Given the description of an element on the screen output the (x, y) to click on. 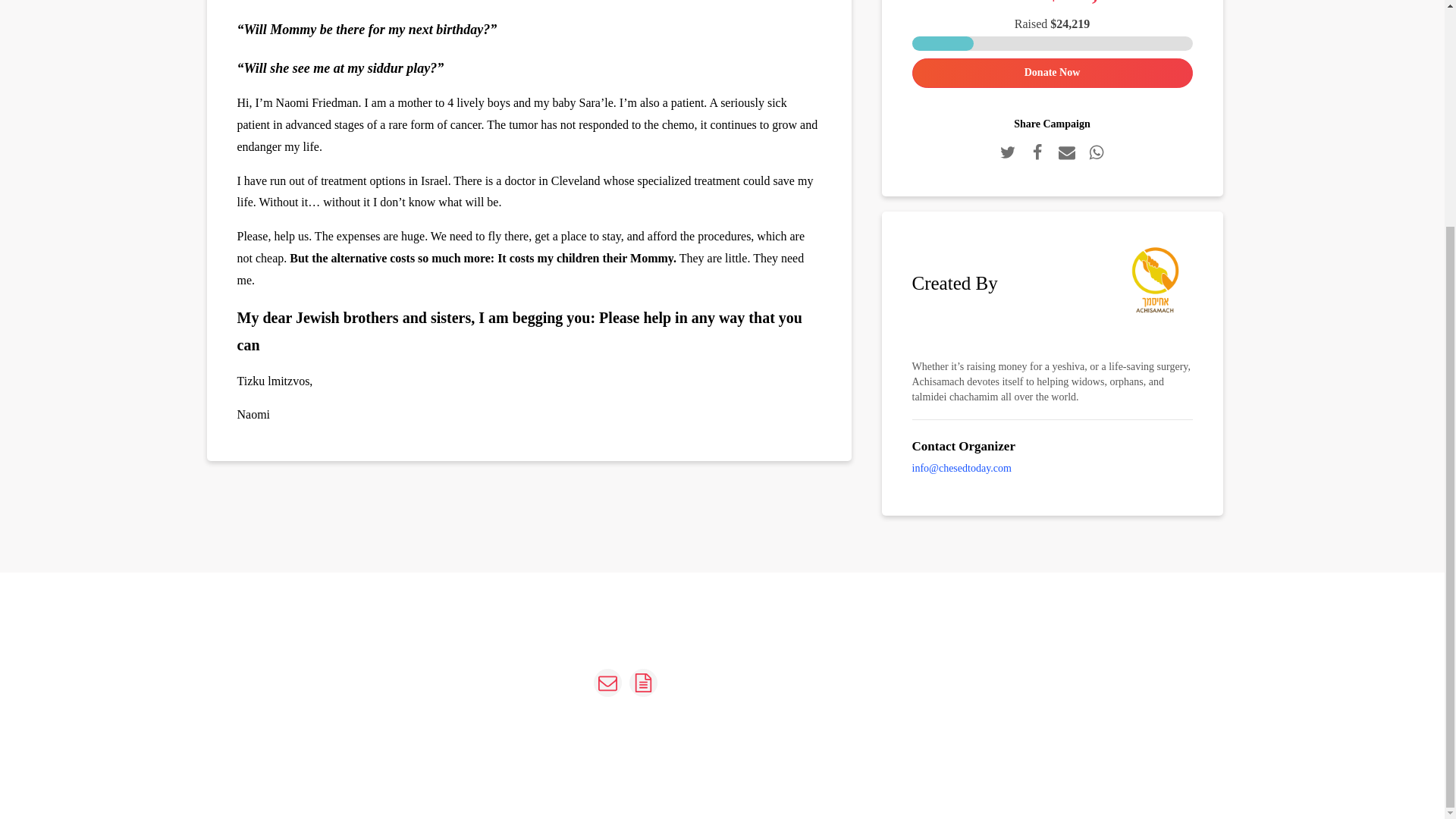
Privacy Policy (443, 704)
Donate Now (910, 720)
Donate Now (1051, 72)
Our Story (443, 675)
